Given the description of an element on the screen output the (x, y) to click on. 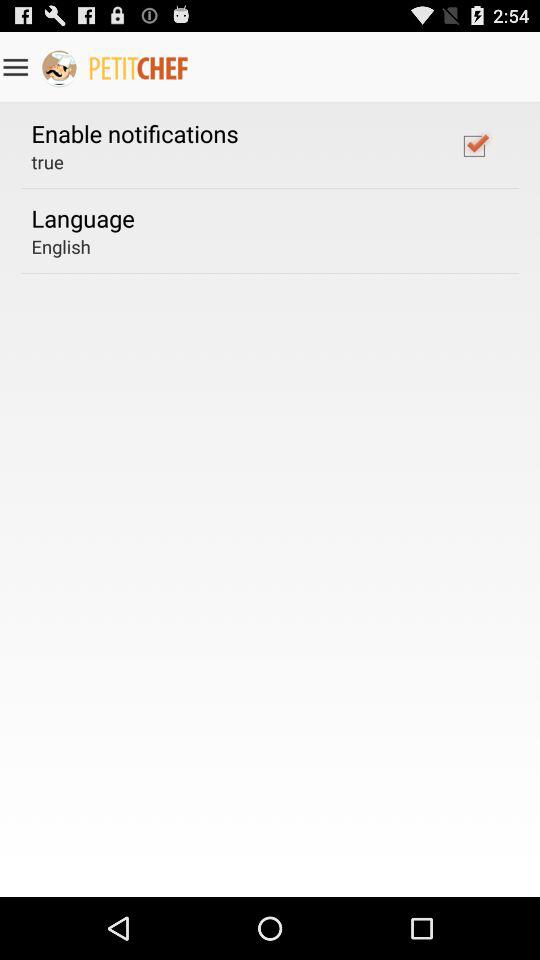
turn on true (47, 161)
